Given the description of an element on the screen output the (x, y) to click on. 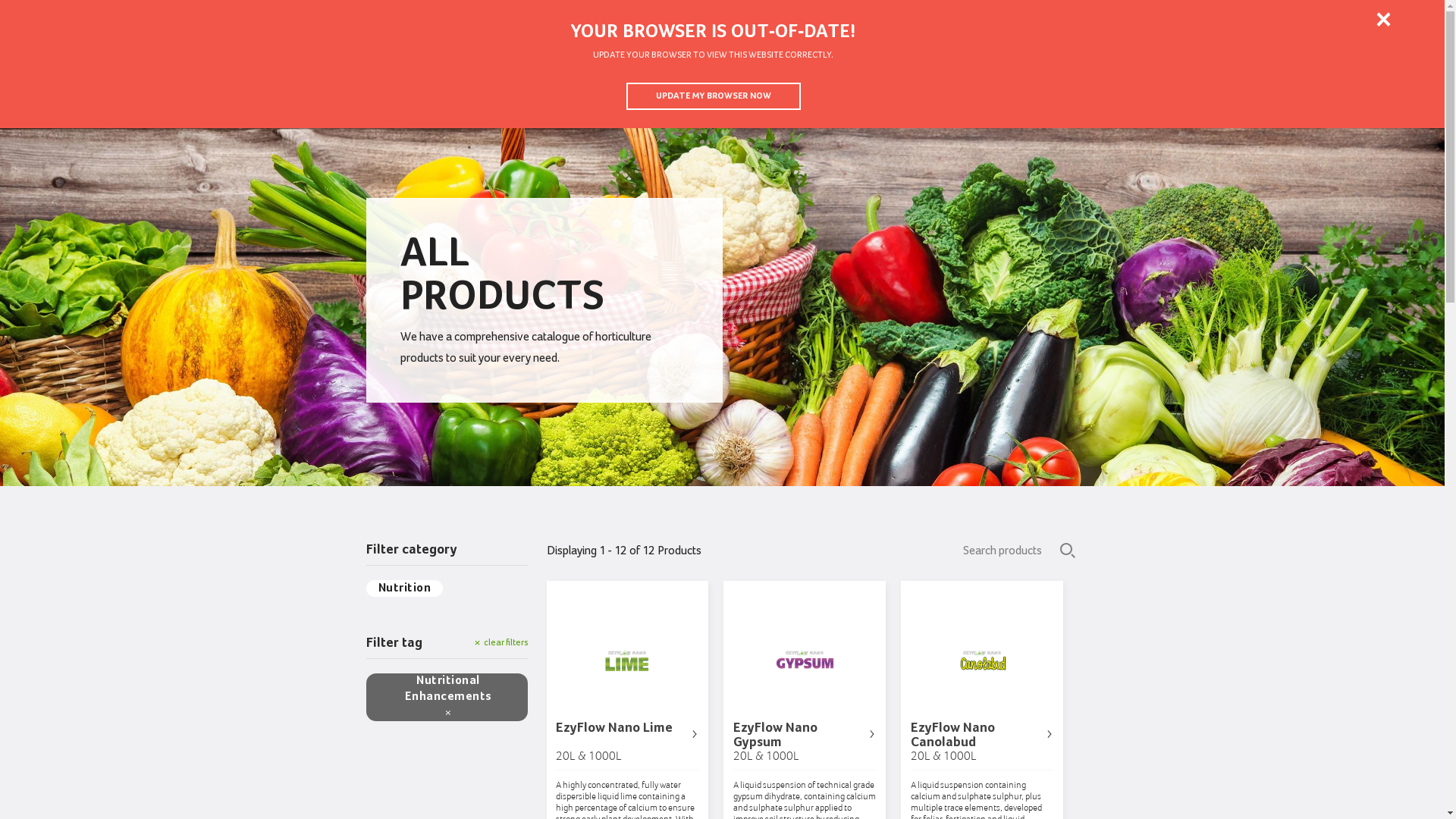
UPDATE MY BROWSER NOW Element type: text (713, 95)
Search Element type: text (1335, 75)
Contact Us Element type: text (1277, 75)
Find a branch Element type: text (1359, 18)
Products Element type: text (1032, 75)
Our Market Element type: text (1119, 75)
Nutrition Element type: text (403, 588)
Who We Are Element type: text (1204, 75)
clear filters Element type: text (500, 642)
Login to Digital Hub Element type: text (70, 18)
